Given the description of an element on the screen output the (x, y) to click on. 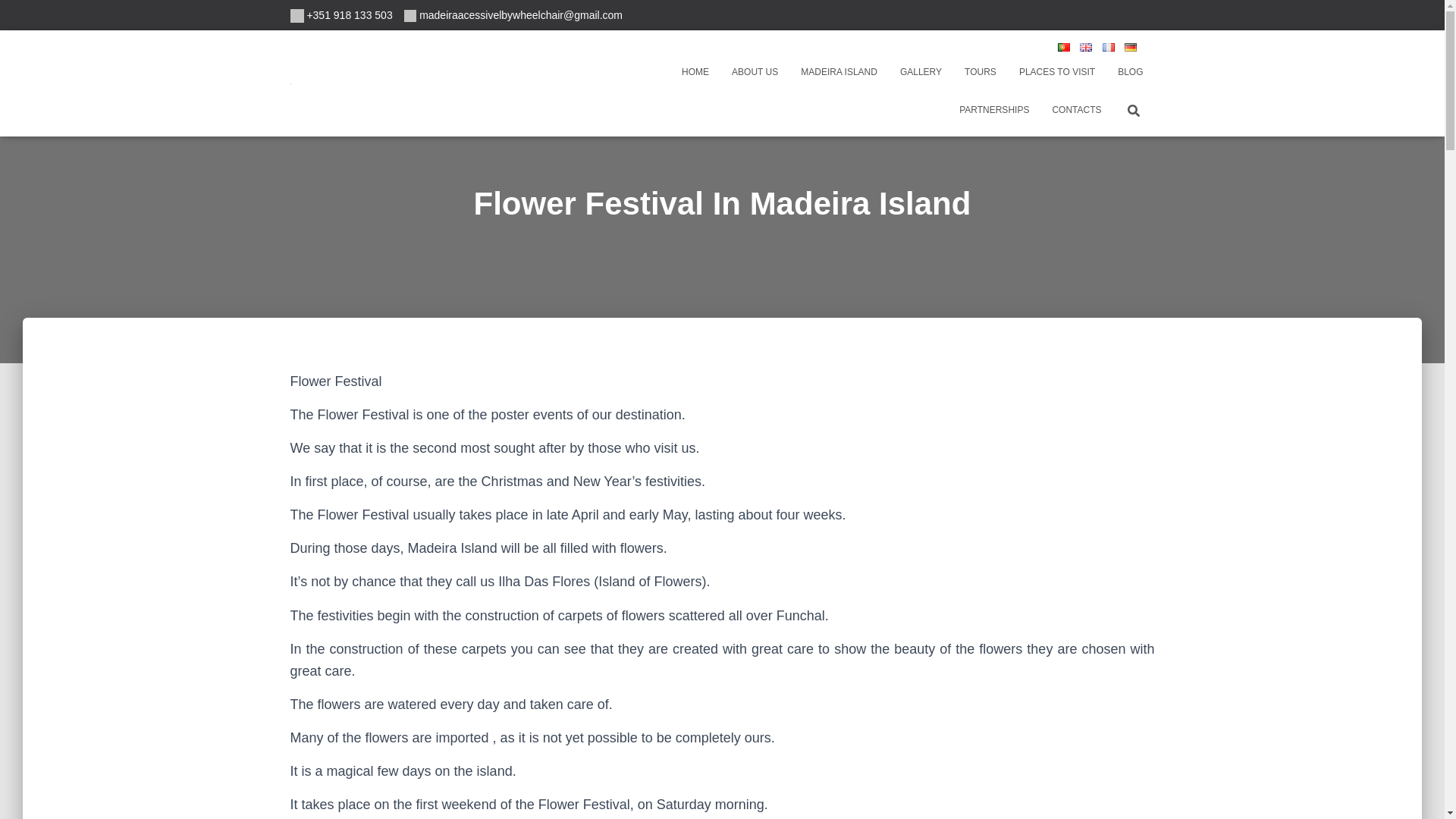
Partnerships (994, 109)
Blog (1130, 71)
MADEIRA ISLAND (838, 71)
Gallery (920, 71)
PARTNERSHIPS (994, 109)
TOURS (980, 71)
CONTACTS (1076, 109)
ABOUT US (754, 71)
GALLERY (920, 71)
Contacts (1076, 109)
About Us (754, 71)
Tours (980, 71)
Places To Visit (1056, 71)
PLACES TO VISIT (1056, 71)
Search (16, 16)
